Given the description of an element on the screen output the (x, y) to click on. 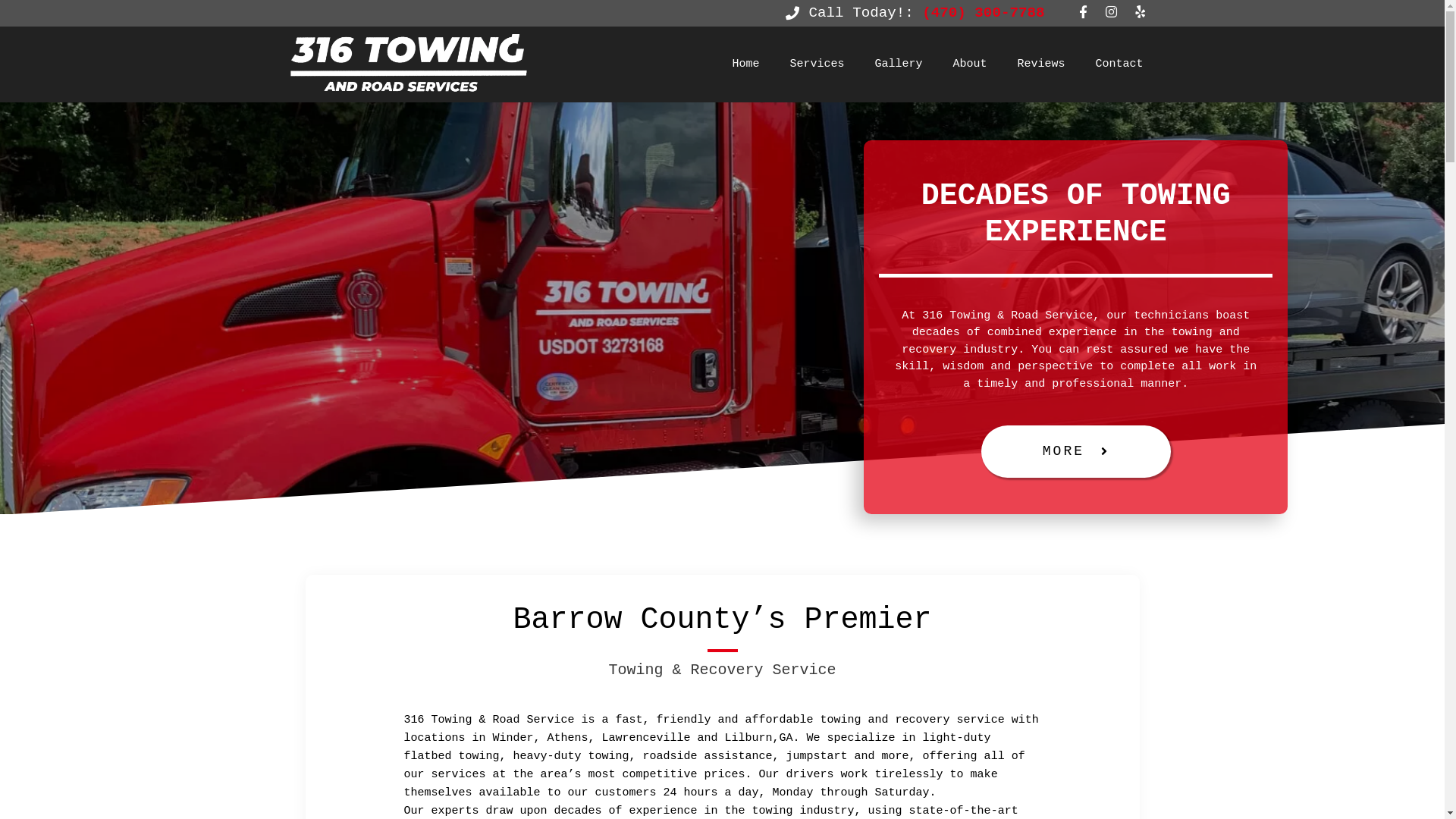
Skip to content Element type: text (0, 0)
Gallery Element type: text (898, 64)
316 Towing & Road Service Element type: hover (407, 64)
Contact Element type: text (1118, 64)
About Element type: text (969, 64)
(470) 300-7788 Element type: text (983, 12)
Reviews Element type: text (1040, 64)
Services Element type: text (816, 64)
Home Element type: text (745, 64)
316 Towing & Road Service Element type: hover (411, 64)
MORE Element type: text (1075, 451)
